Given the description of an element on the screen output the (x, y) to click on. 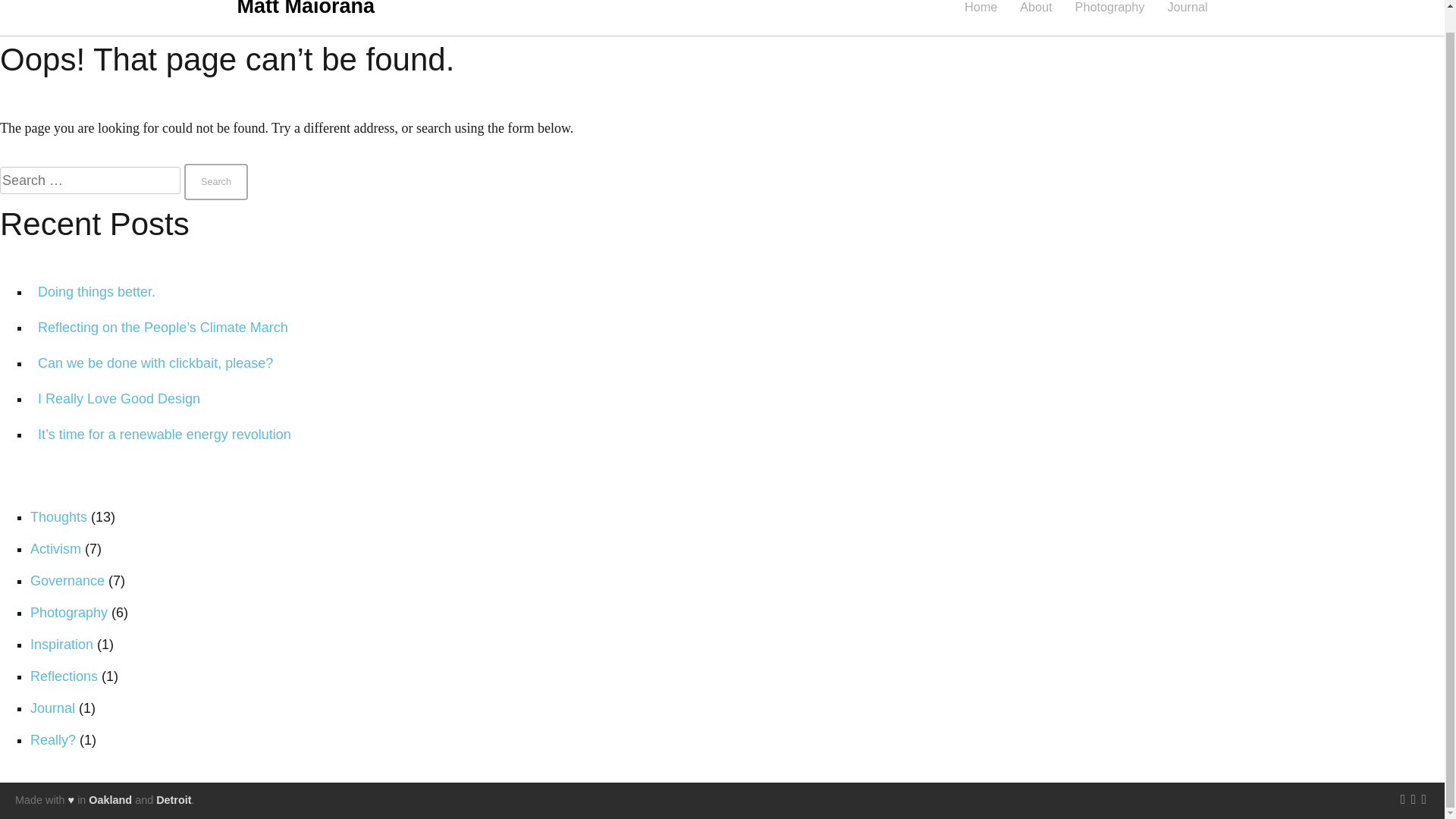
Journal (52, 708)
Matt Maiorana (304, 8)
Search (215, 181)
Thoughts (58, 516)
Activism (55, 548)
About (1035, 6)
Photography (1109, 6)
Reflections (63, 676)
Really? (52, 739)
Governance (67, 580)
Journal (1187, 6)
I Really Love Good Design (118, 398)
Photography (68, 612)
Home (980, 6)
Search (215, 181)
